Given the description of an element on the screen output the (x, y) to click on. 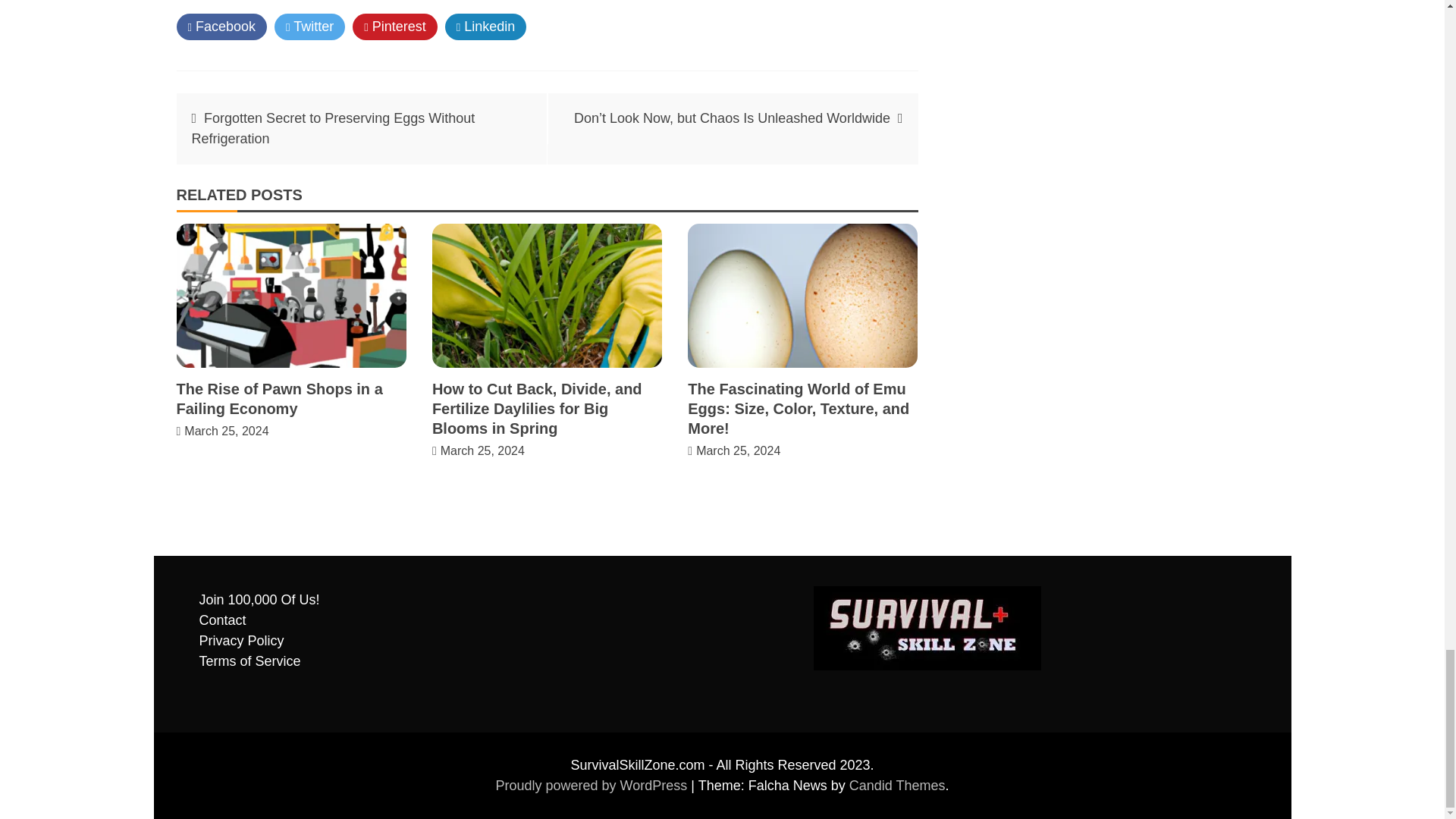
The Rise of Pawn Shops in a Failing Economy (278, 398)
March 25, 2024 (482, 450)
Facebook (221, 26)
March 25, 2024 (737, 450)
Twitter (310, 26)
Linkedin (486, 26)
Pinterest (395, 26)
Forgotten Secret to Preserving Eggs Without Refrigeration (332, 128)
